Given the description of an element on the screen output the (x, y) to click on. 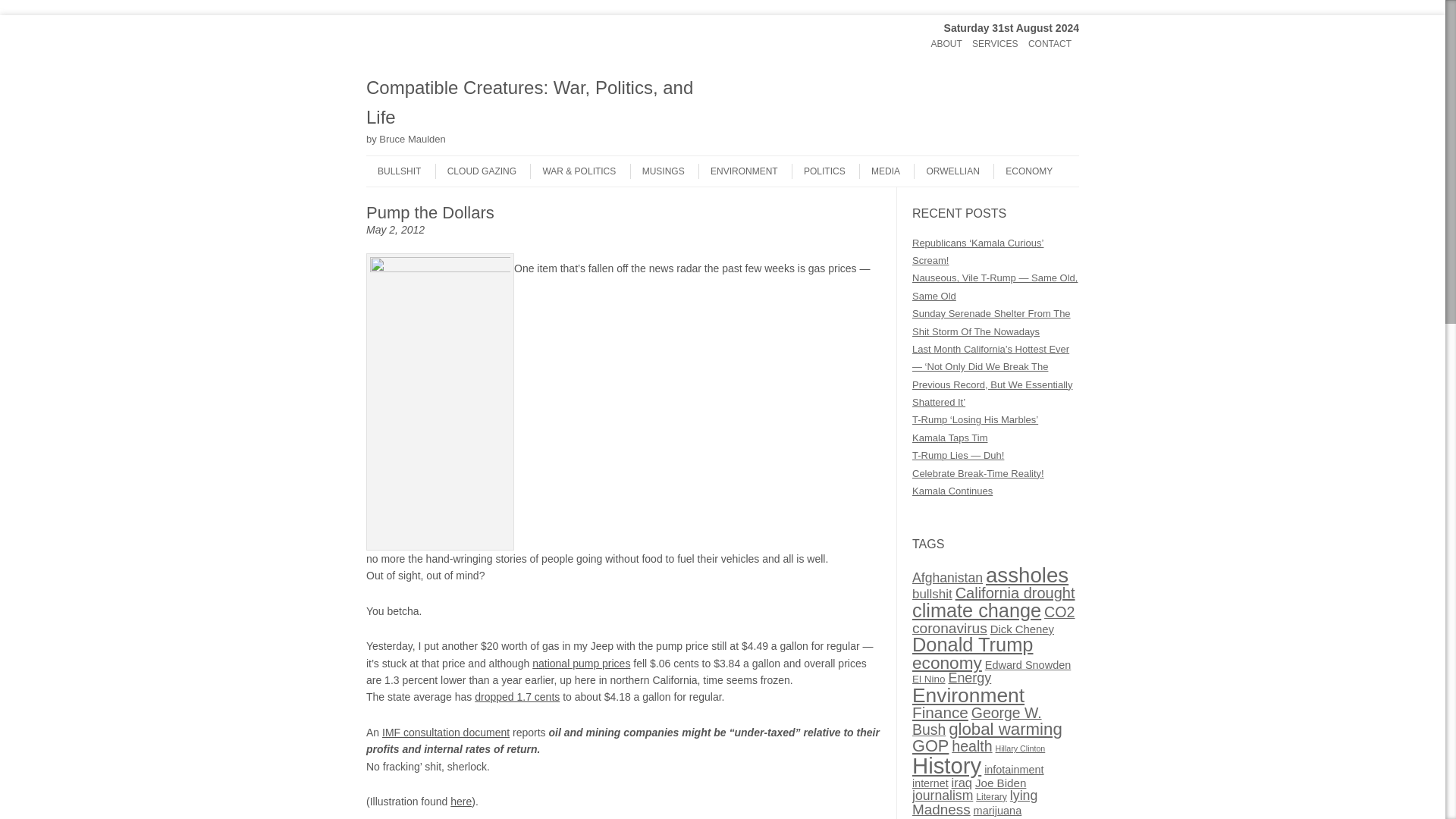
BULLSHIT (393, 171)
national pump prices (581, 663)
ECONOMY (1022, 171)
CONTACT (1049, 43)
MUSINGS (657, 171)
here (460, 801)
Skip to content (396, 160)
Skip to content (396, 37)
ENVIRONMENT (737, 171)
CLOUD GAZING (475, 171)
